Given the description of an element on the screen output the (x, y) to click on. 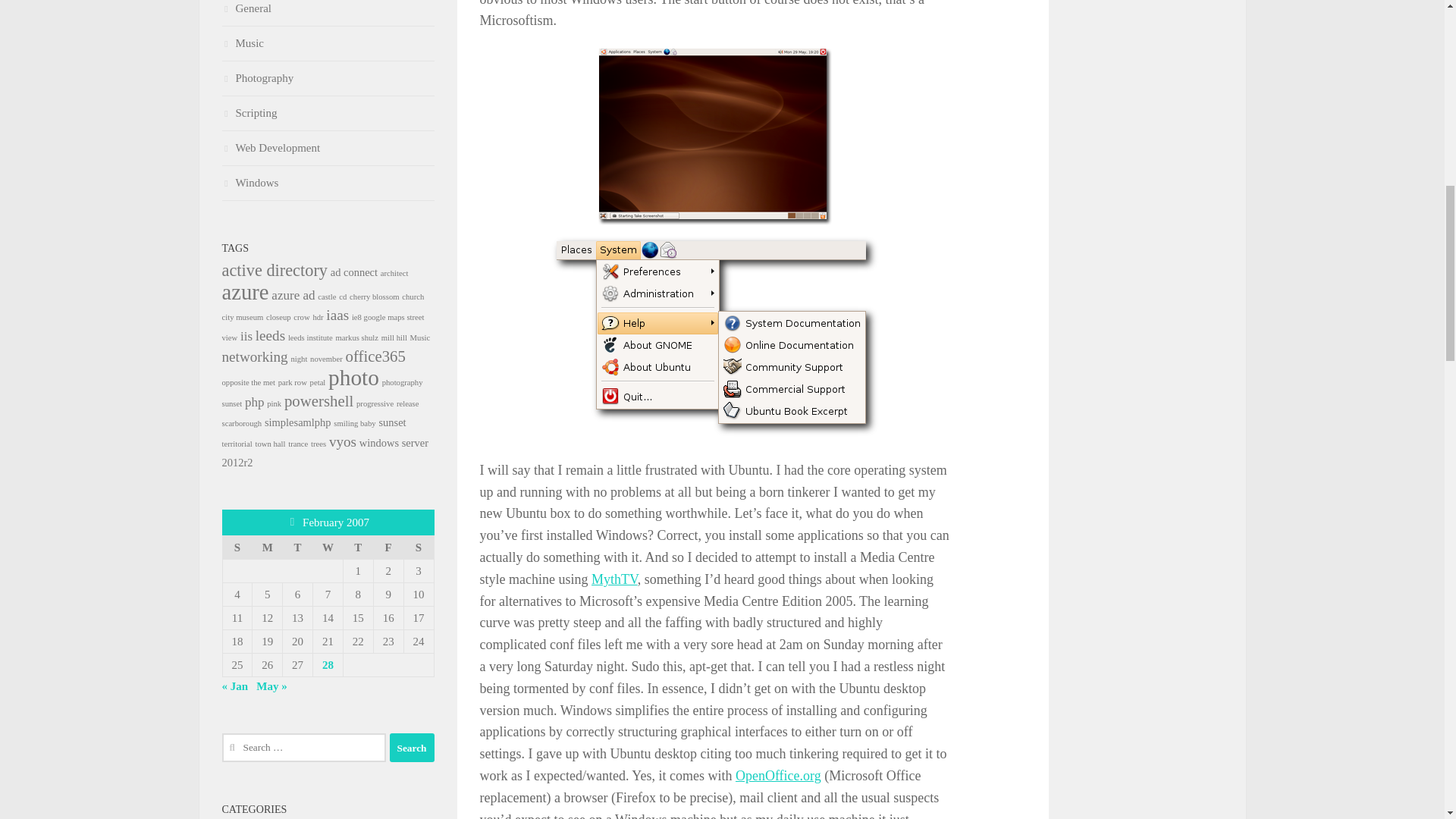
Search (411, 747)
OpenOffice.org (778, 775)
Search (411, 747)
OpenOffice (778, 775)
MythTV (614, 579)
Sunday (236, 546)
